Given the description of an element on the screen output the (x, y) to click on. 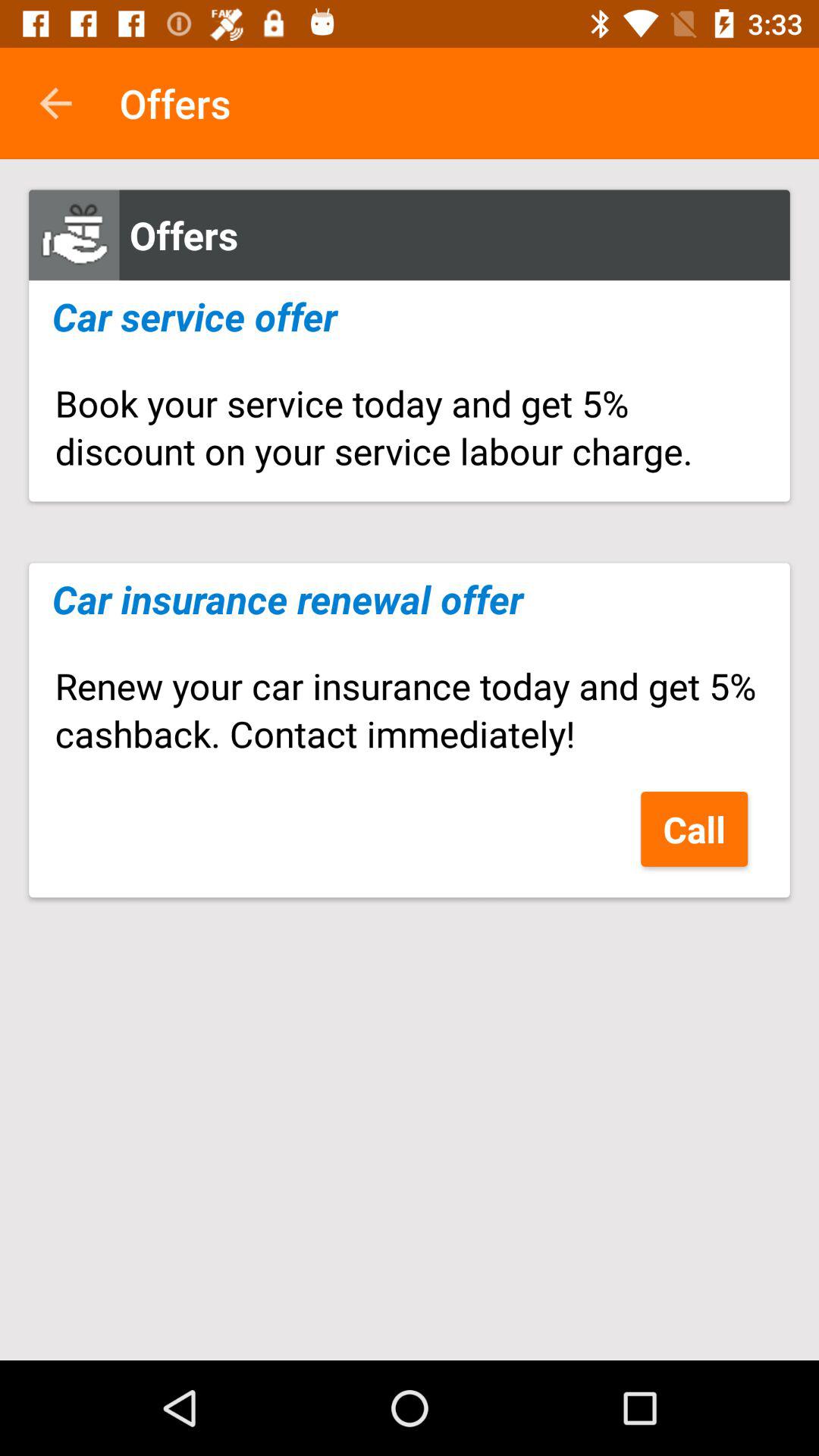
launch the icon below renew your car item (693, 828)
